Given the description of an element on the screen output the (x, y) to click on. 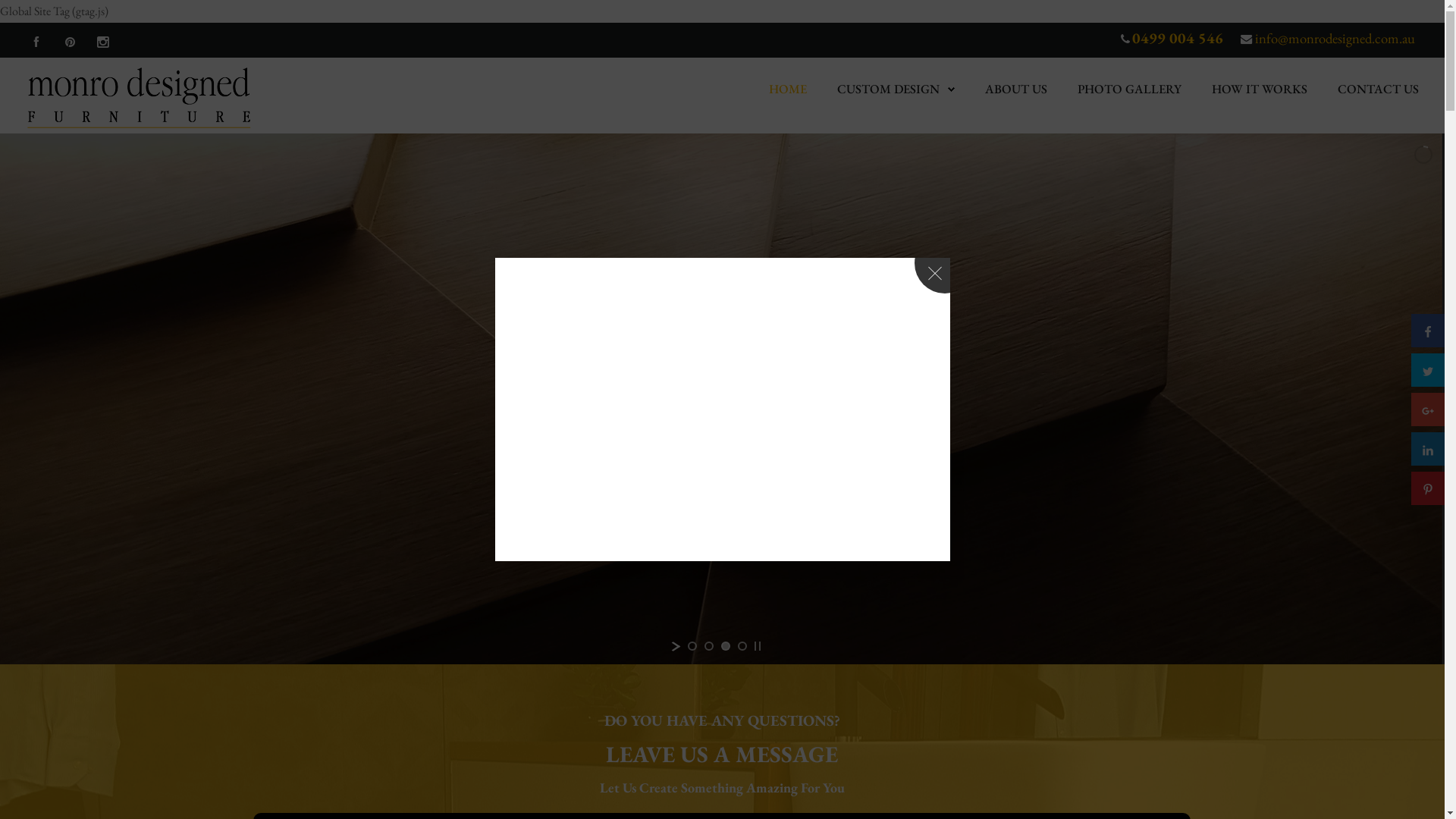
HOW IT WORKS Element type: text (1259, 88)
ABOUT US Element type: text (1016, 88)
PHOTO GALLERY Element type: text (1129, 88)
CUSTOM DESIGN Element type: text (895, 88)
CONTACT US Element type: text (1377, 88)
HOME Element type: text (787, 88)
PHOTO GALLERY Element type: text (1129, 88)
ABOUT US Element type: text (1016, 88)
0499 004 546 Element type: text (1177, 37)
info@monrodesigned.com.au Element type: text (1333, 37)
CONTACT US Element type: text (1377, 88)
HOME Element type: text (787, 88)
CUSTOM DESIGN Element type: text (888, 88)
HOW IT WORKS Element type: text (1259, 88)
Slide #1 copy copy Element type: hover (722, 398)
